Given the description of an element on the screen output the (x, y) to click on. 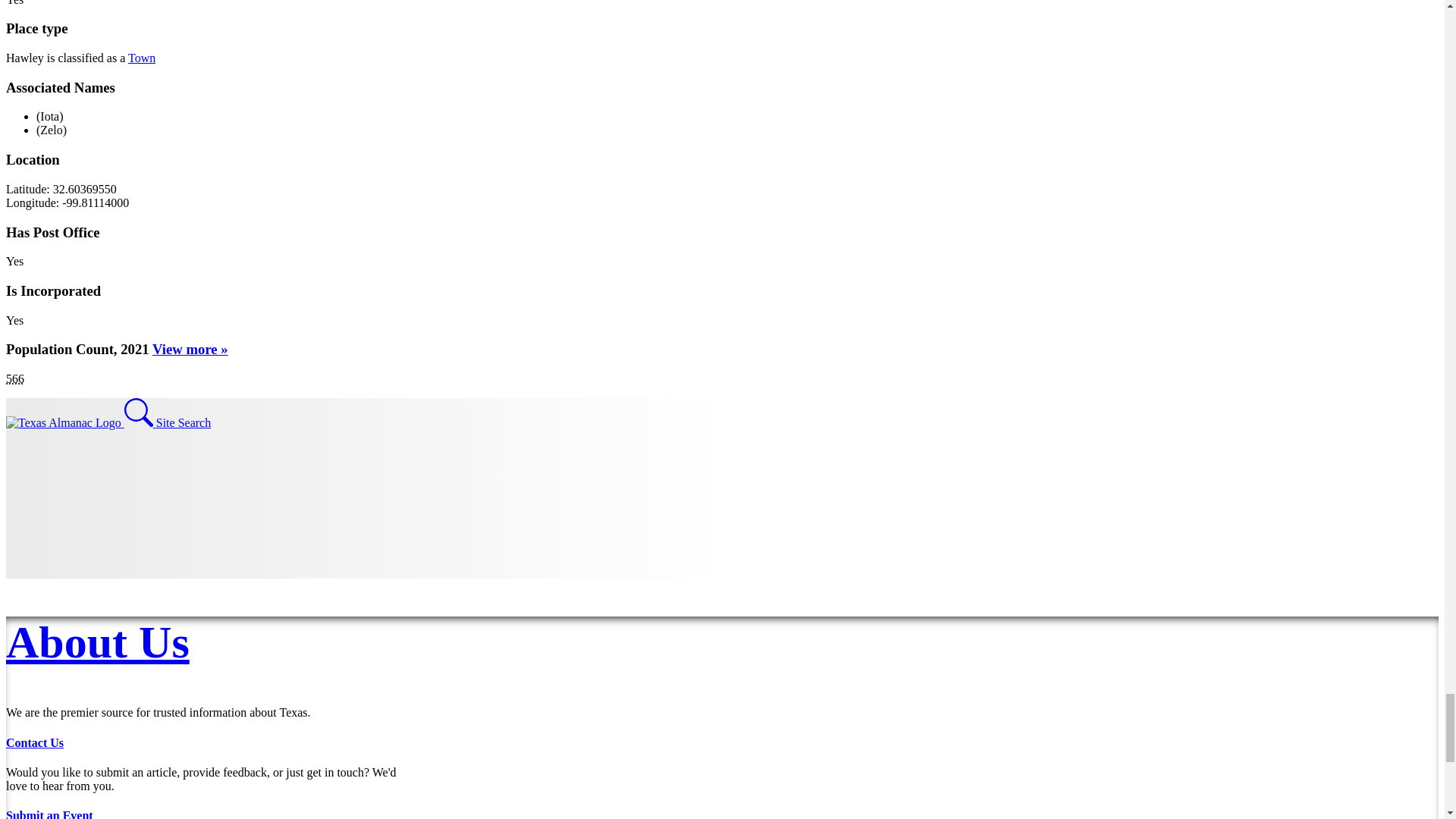
2021, United States Census Bureau (14, 378)
Town (141, 57)
Site Search (167, 422)
About Us (97, 642)
